Given the description of an element on the screen output the (x, y) to click on. 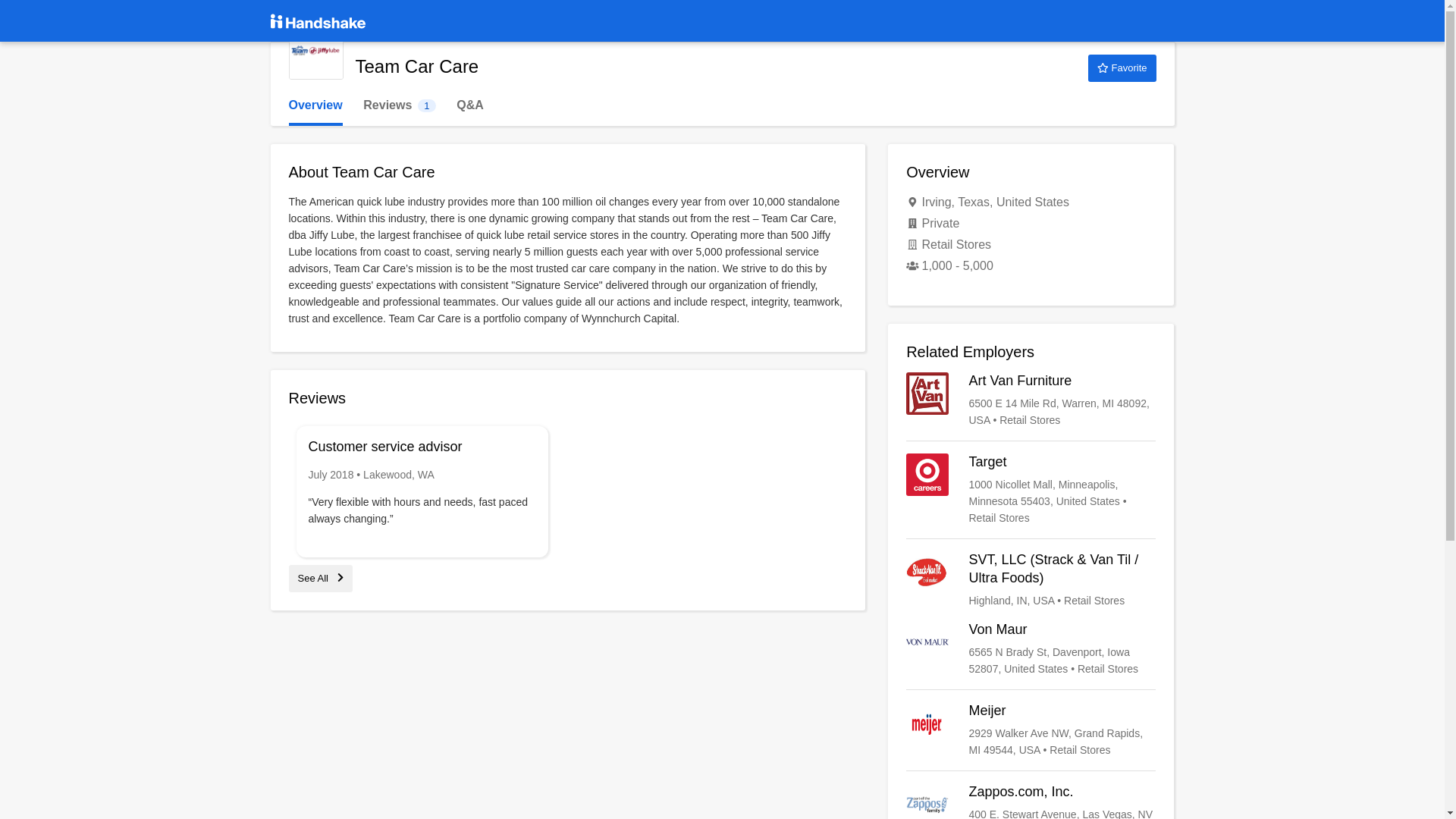
Von Maur (1030, 648)
Meijer (1030, 729)
See All (320, 577)
Overview (315, 105)
Target (1030, 489)
Zappos.com, Inc. (1030, 800)
Team Car Care (315, 52)
Favorite (398, 105)
Art Van Furniture (1121, 67)
